Given the description of an element on the screen output the (x, y) to click on. 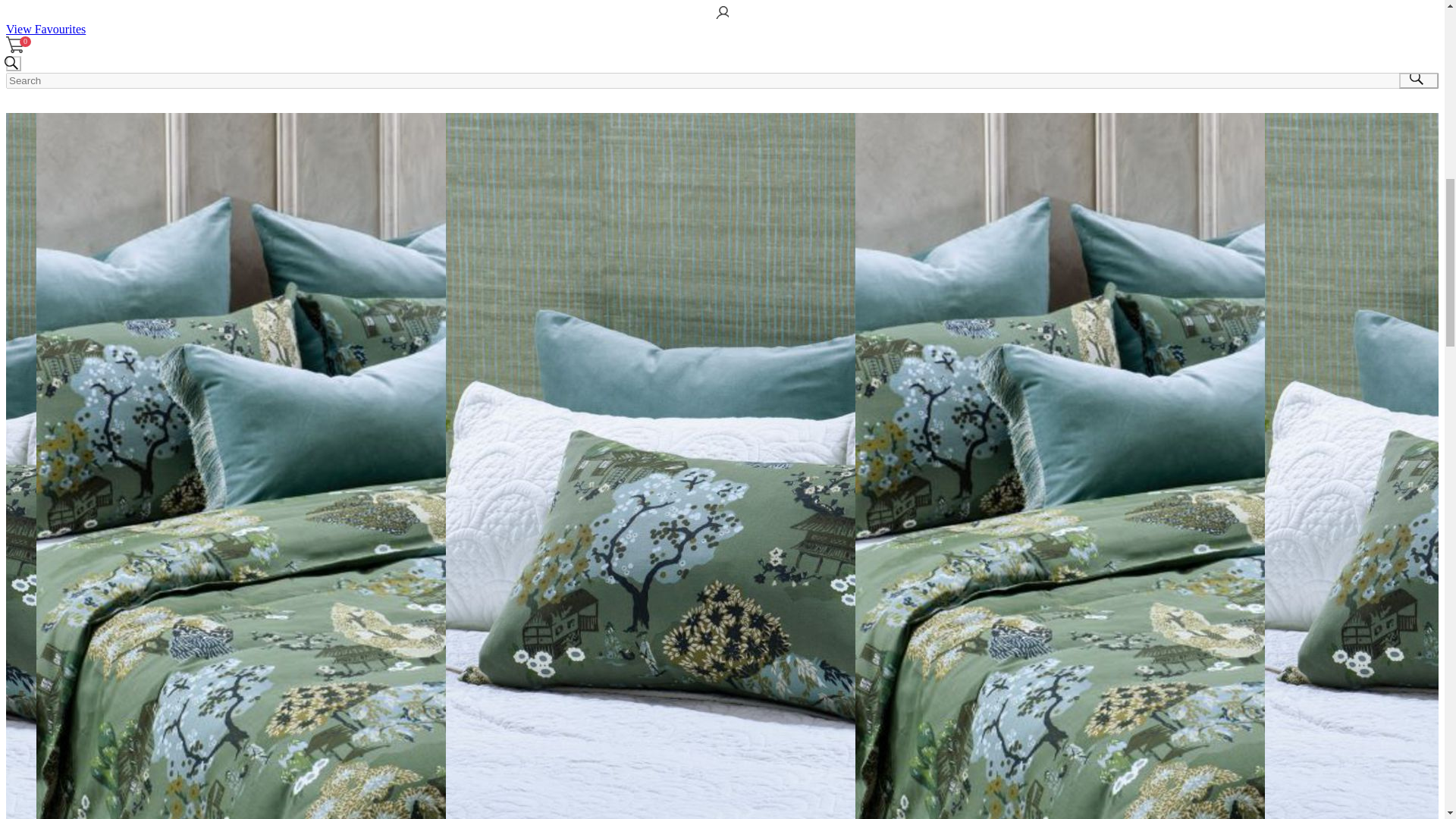
Login (14, 13)
View Favourites (45, 29)
